Given the description of an element on the screen output the (x, y) to click on. 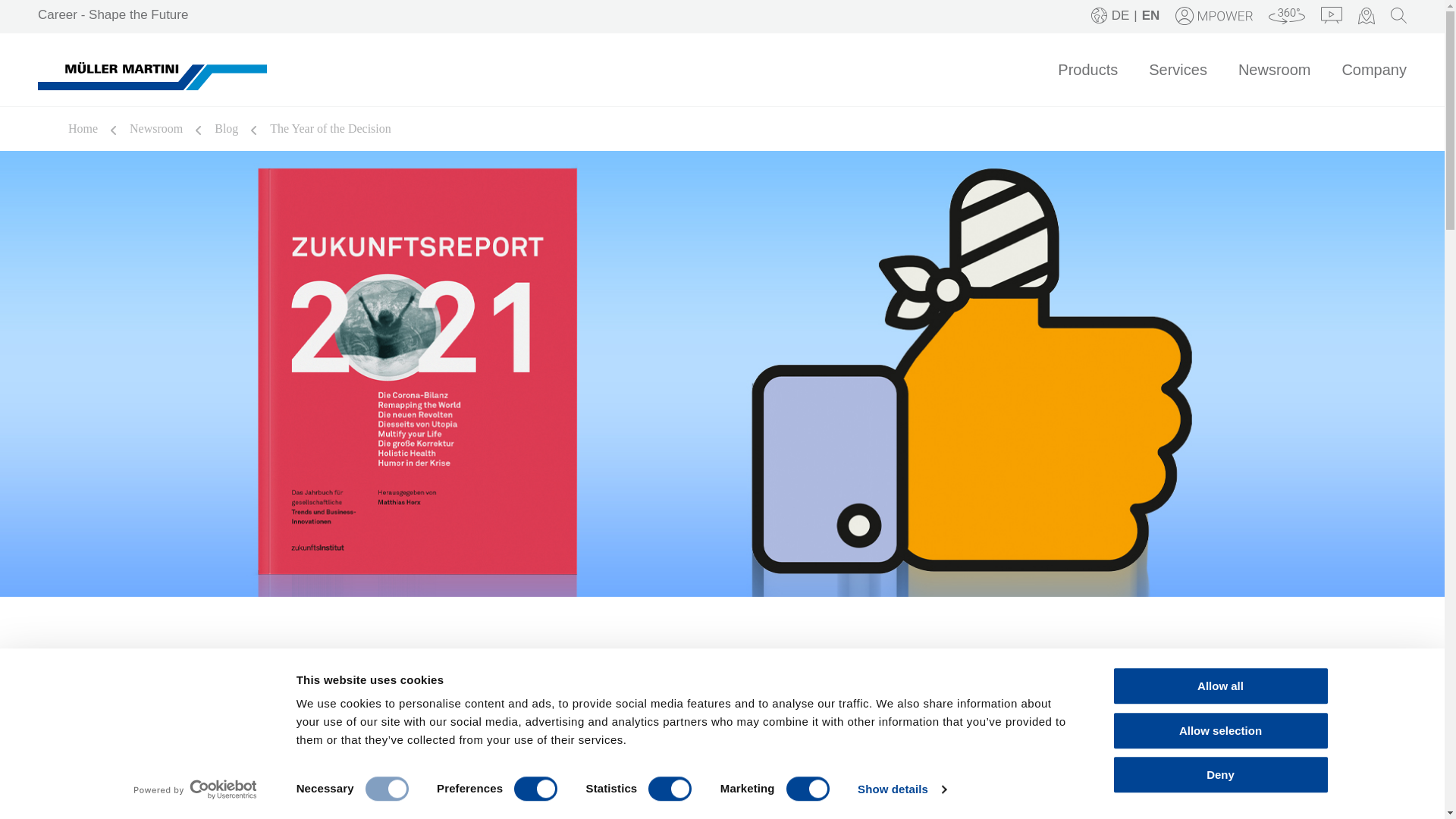
Career - Shape the Future (112, 14)
Allow selection (1219, 730)
Show details (900, 789)
Allow all (1219, 685)
Deny (1219, 774)
